Given the description of an element on the screen output the (x, y) to click on. 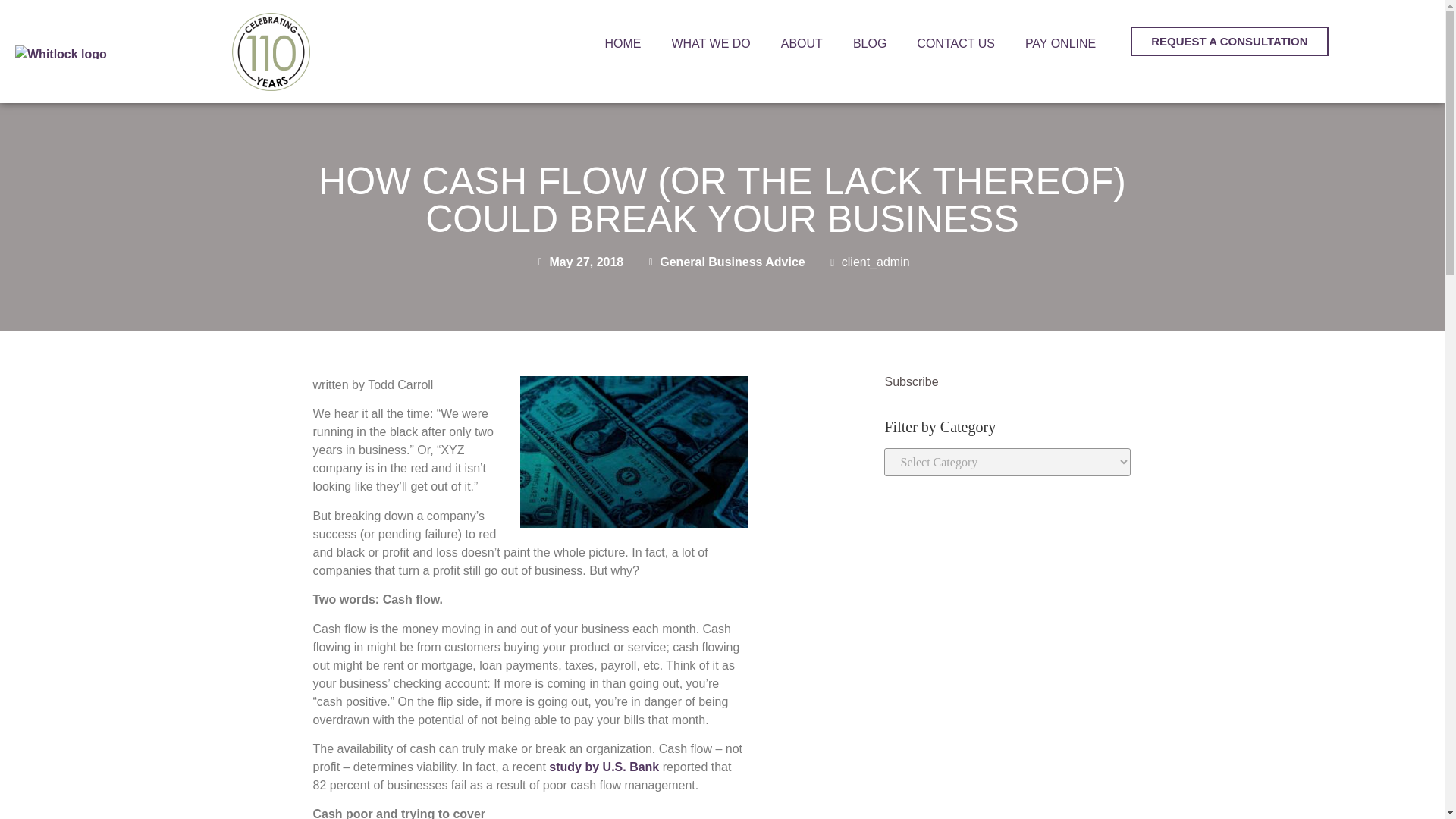
ABOUT (801, 43)
CONTACT US (955, 43)
BLOG (869, 43)
WHAT WE DO (710, 43)
HOME (622, 43)
PAY ONLINE (1060, 43)
